Given the description of an element on the screen output the (x, y) to click on. 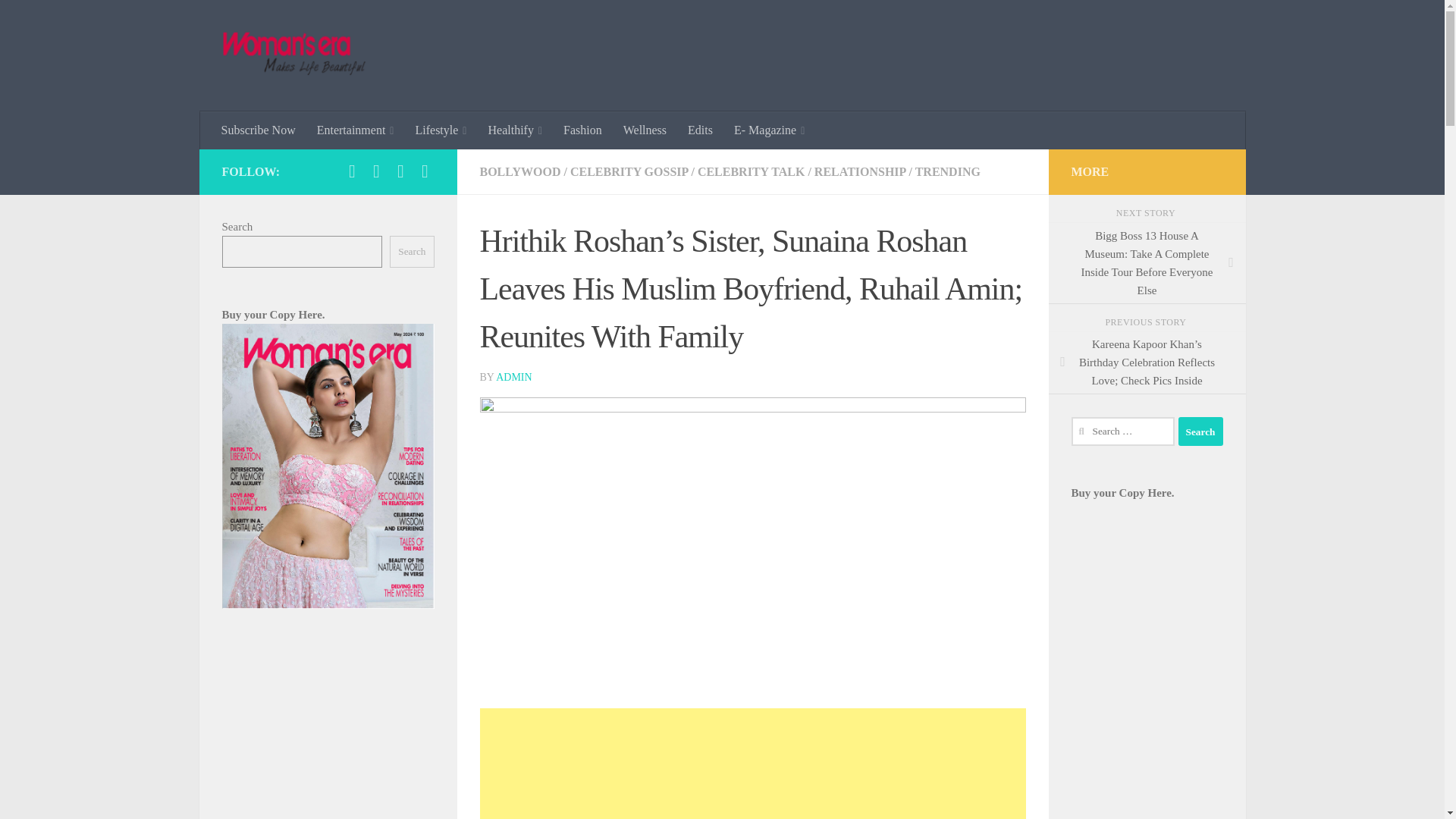
Subscribe Now (258, 130)
Lifestyle (440, 130)
Advertisement (752, 763)
Skip to content (59, 20)
Search (1200, 430)
Search (1200, 430)
Follow us on Youtube (423, 171)
Follow us on Twitter (400, 171)
Follow us on Facebook (351, 171)
Posts by admin (513, 377)
Entertainment (354, 130)
Healthify (515, 130)
Follow us on Instagram (375, 171)
